Given the description of an element on the screen output the (x, y) to click on. 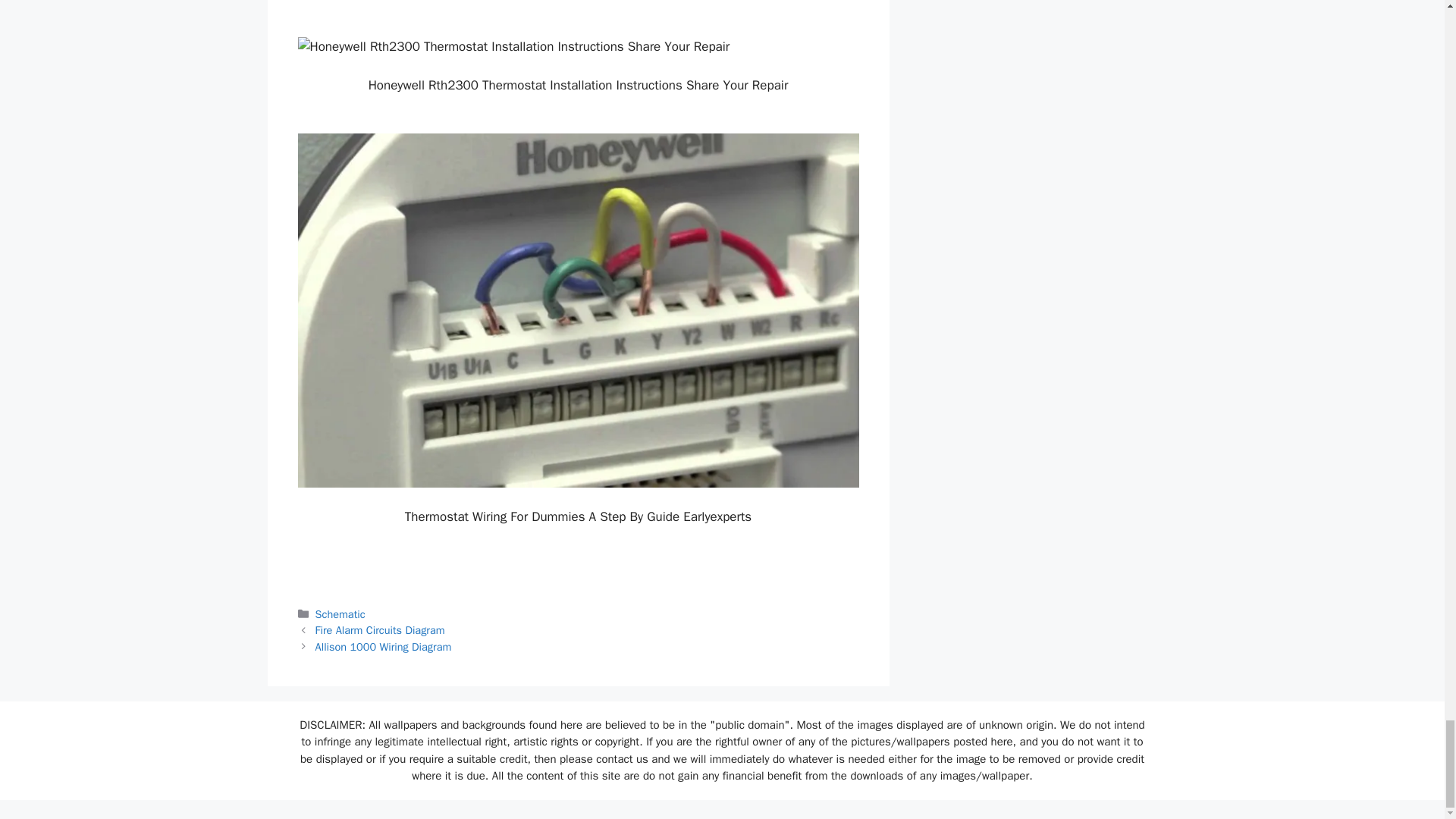
Allison 1000 Wiring Diagram (383, 646)
Fire Alarm Circuits Diagram (380, 630)
Schematic (340, 613)
